Given the description of an element on the screen output the (x, y) to click on. 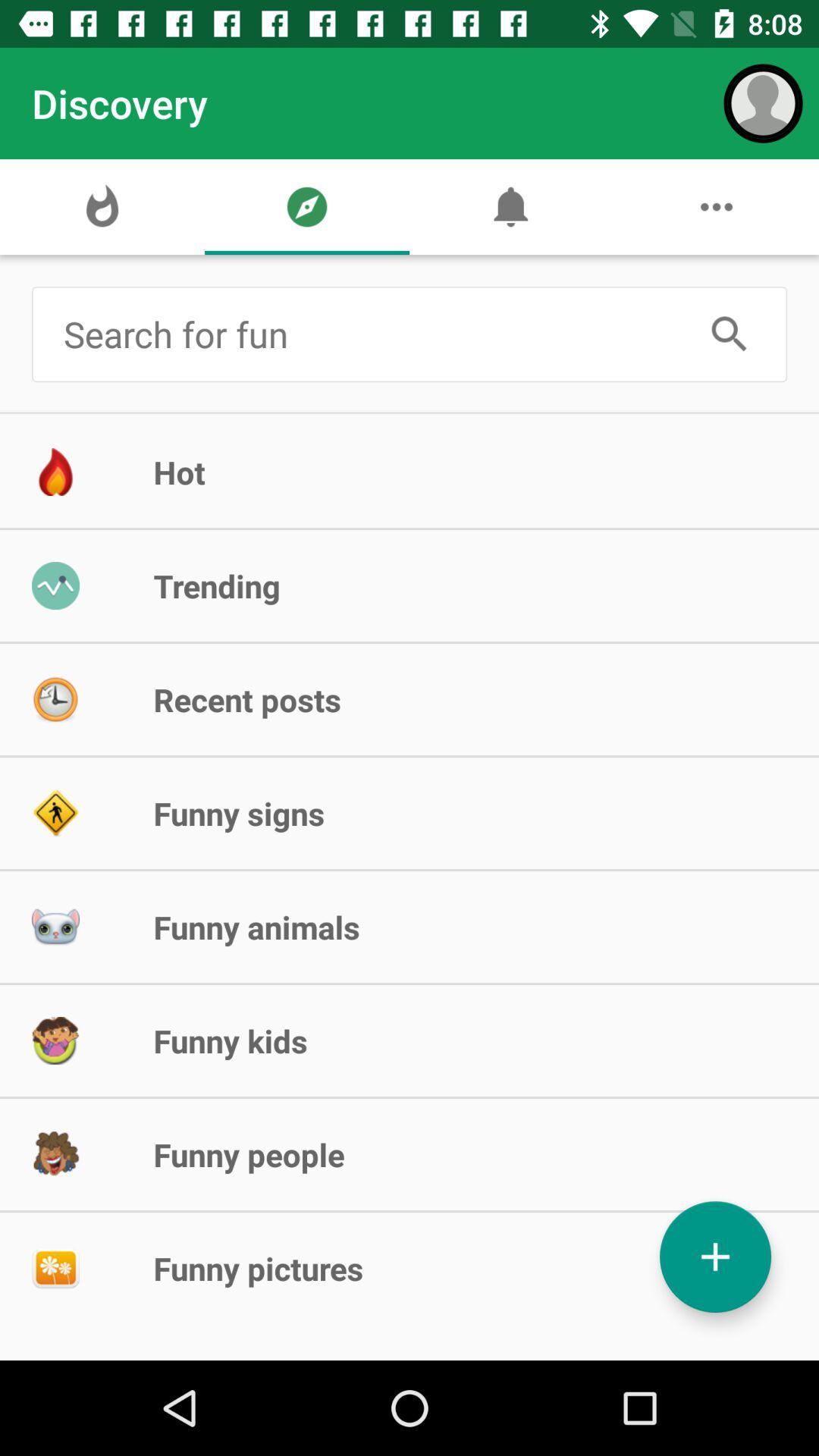
search (729, 334)
